Given the description of an element on the screen output the (x, y) to click on. 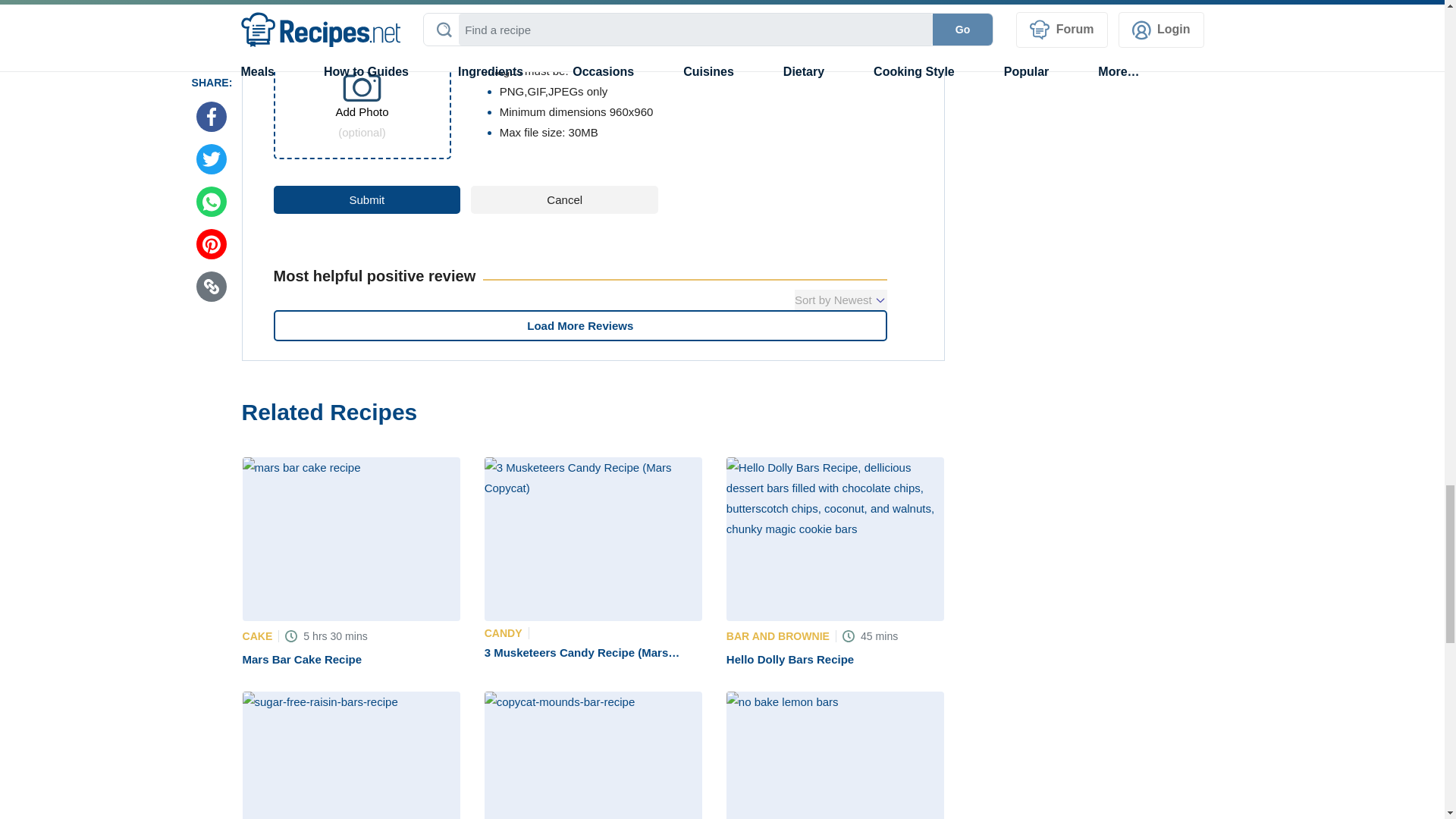
Cancel (564, 199)
submit (366, 199)
